Given the description of an element on the screen output the (x, y) to click on. 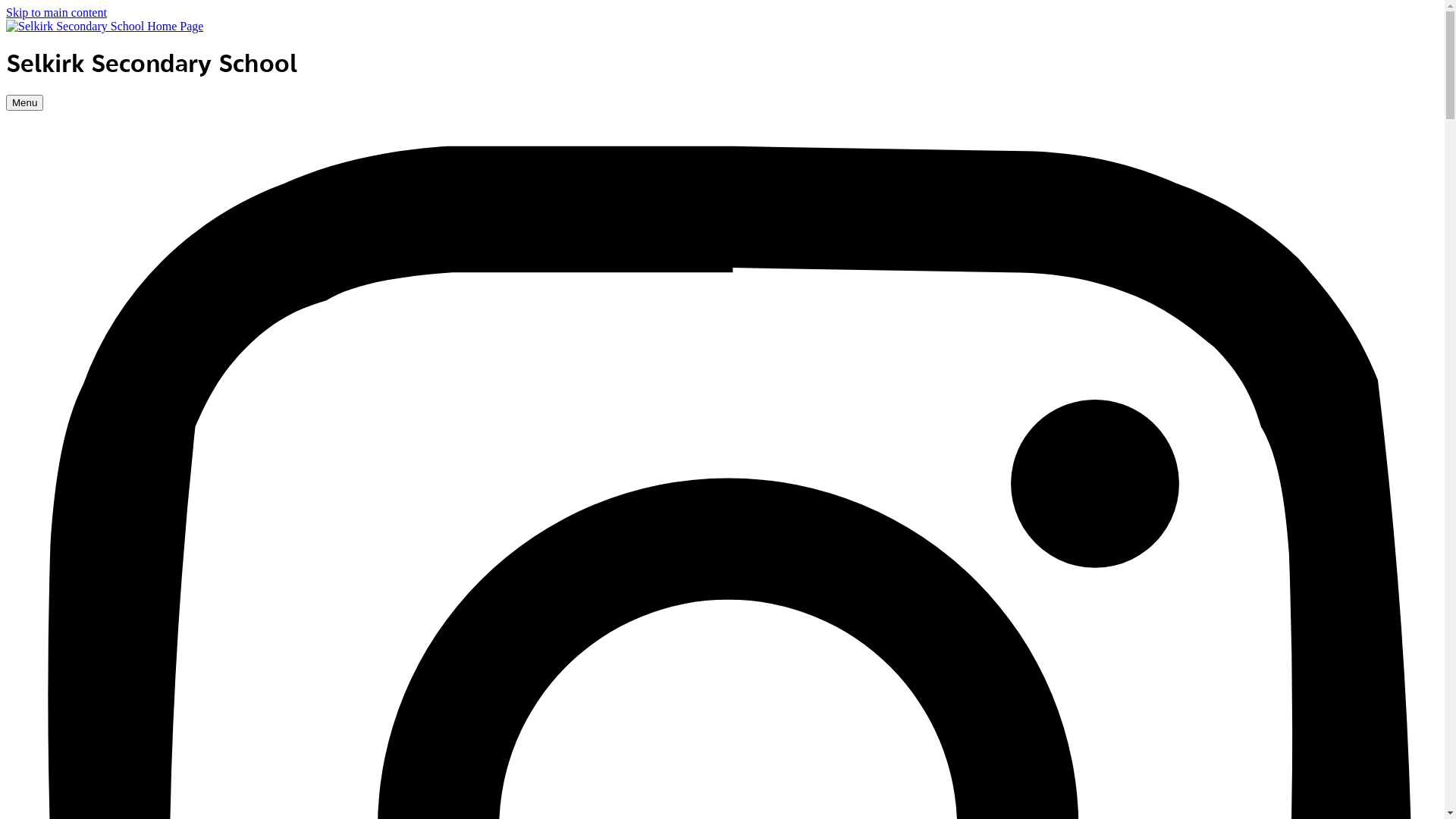
Menu Element type: text (24, 102)
home Element type: hover (104, 25)
Skip to main content Element type: text (56, 12)
